Given the description of an element on the screen output the (x, y) to click on. 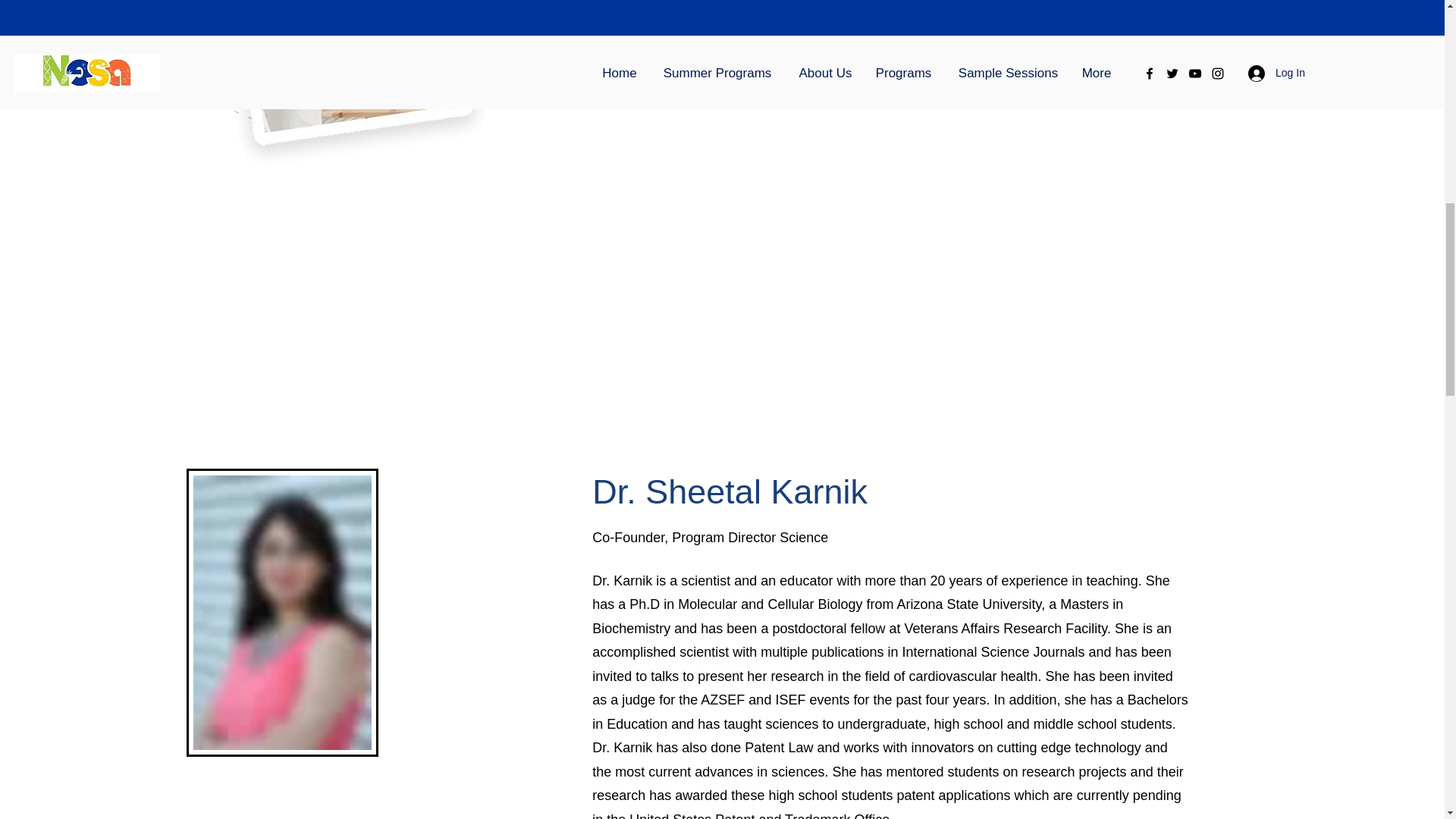
image-left-home.webp (308, 86)
